Given the description of an element on the screen output the (x, y) to click on. 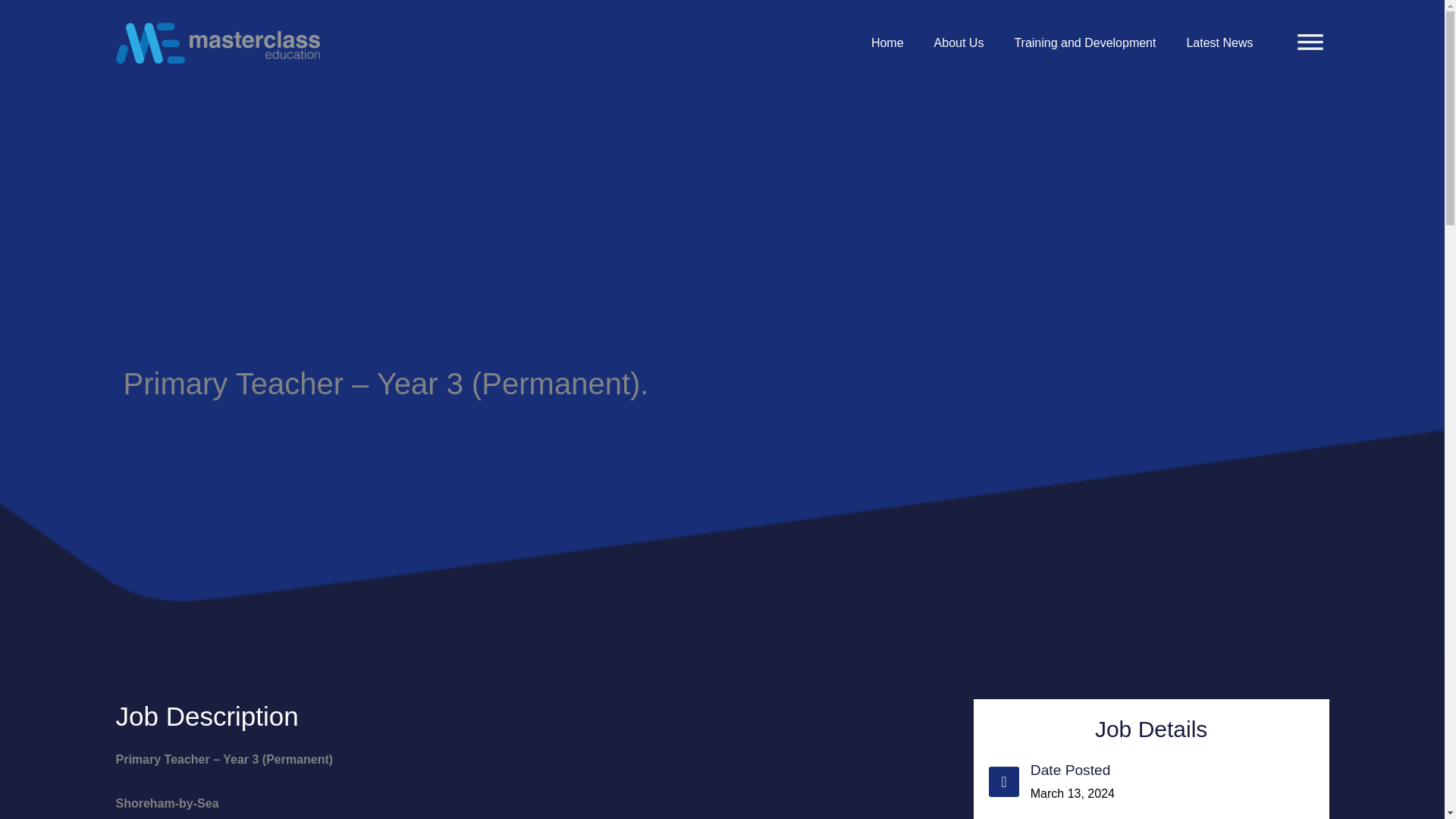
About Us (958, 42)
Home (887, 42)
Latest News (1219, 42)
Training and Development (1084, 42)
